Given the description of an element on the screen output the (x, y) to click on. 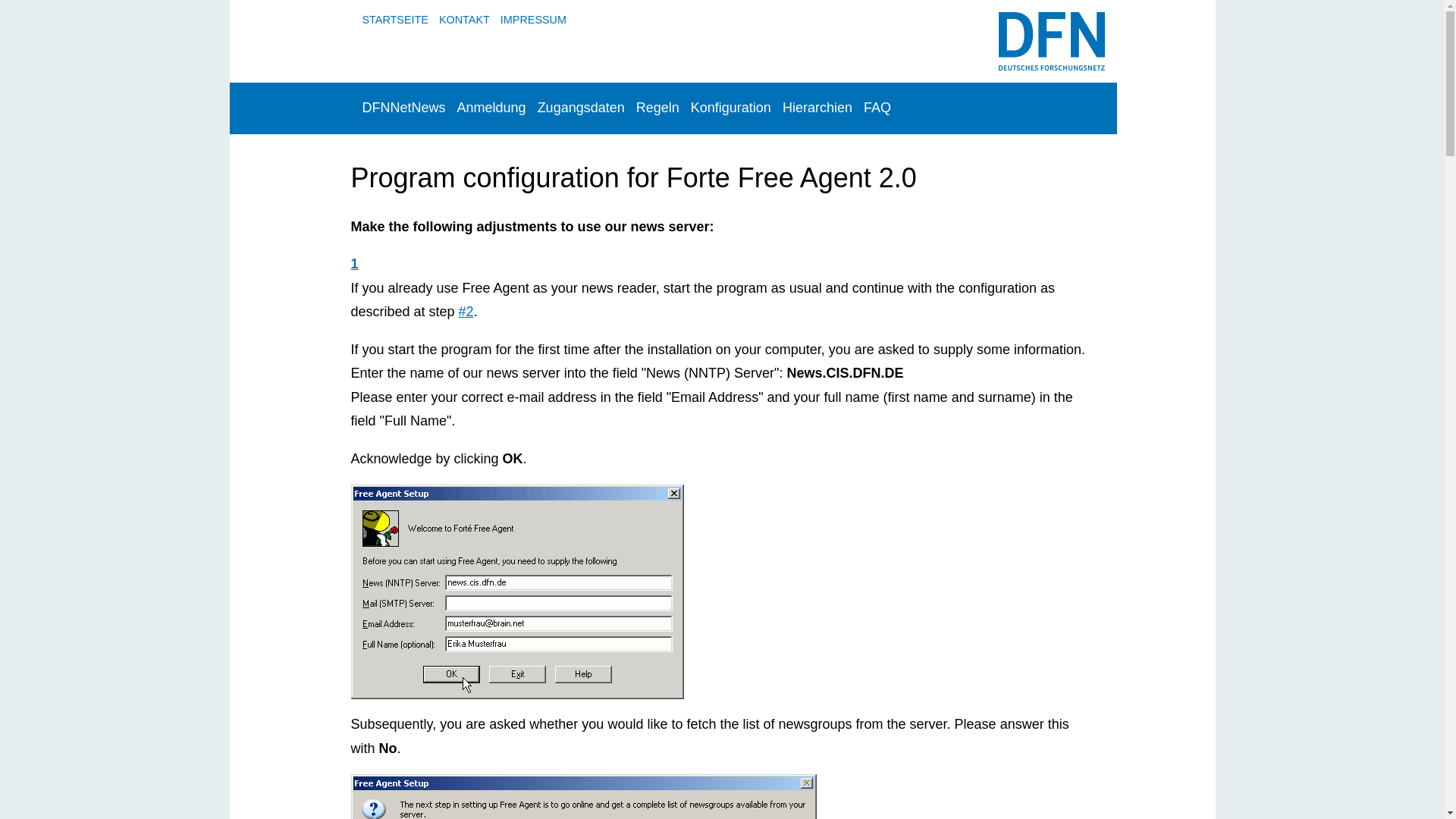
Zugangsdaten (581, 107)
Anmeldung (490, 107)
FAQ (877, 107)
STARTSEITE (394, 19)
Konfiguration (730, 107)
DFNNetNews (403, 107)
Hierarchien (817, 107)
KONTAKT (464, 19)
IMPRESSUM (533, 19)
Regeln (656, 107)
